Given the description of an element on the screen output the (x, y) to click on. 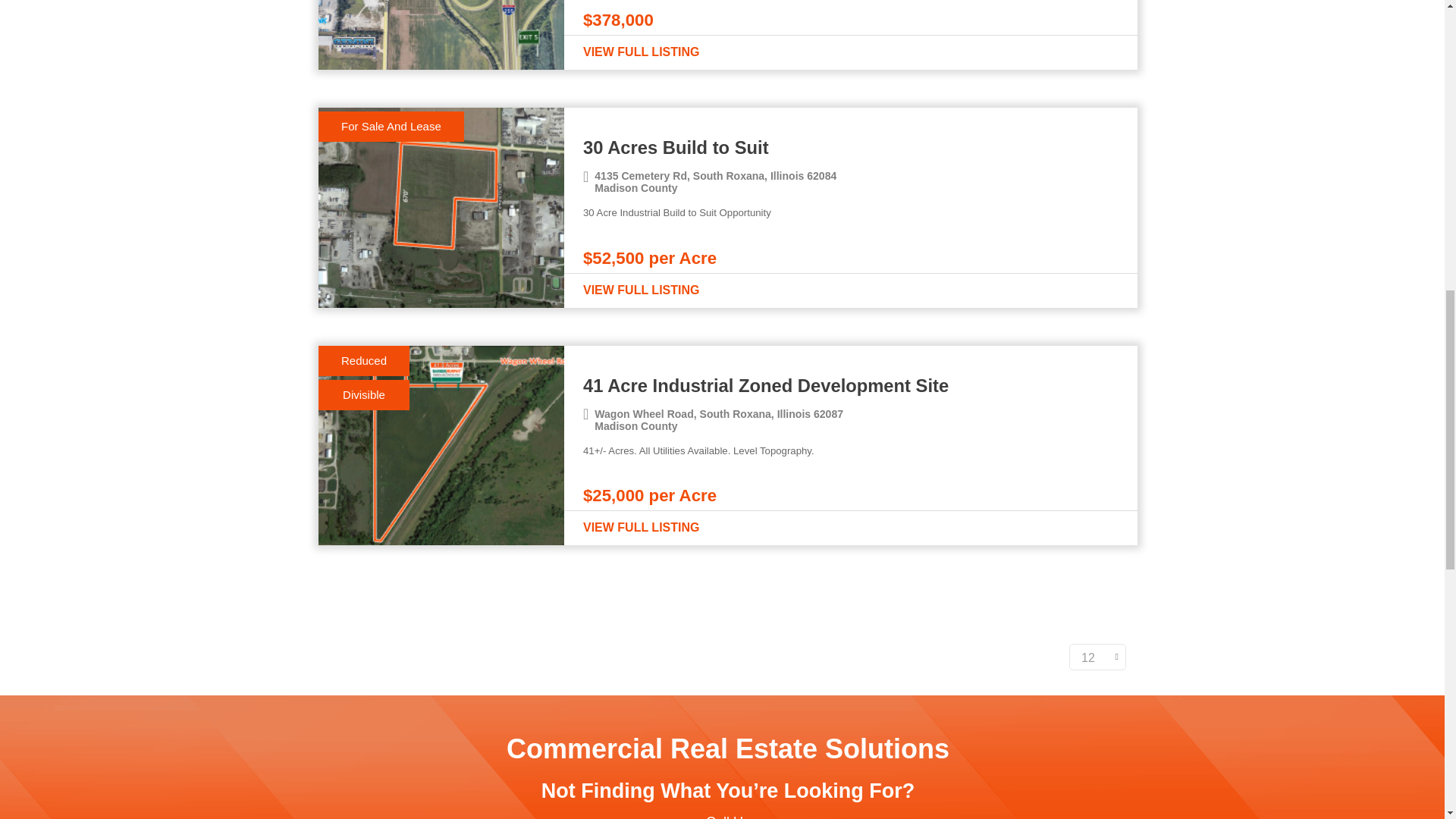
30 Acres Build to Suit (850, 149)
41 Acre Industrial Zoned Development Site (850, 387)
